Given the description of an element on the screen output the (x, y) to click on. 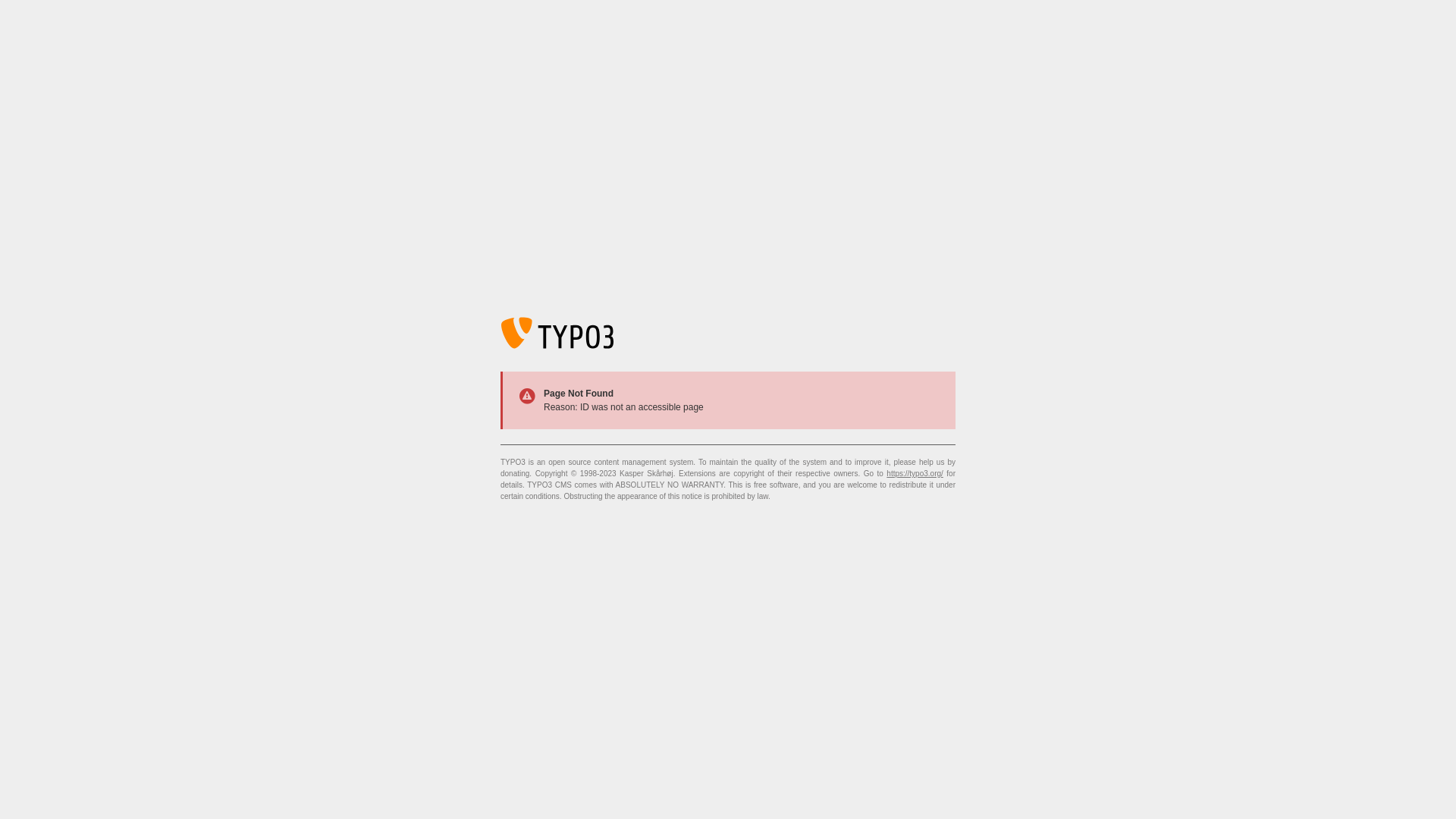
https://typo3.org/ Element type: text (914, 473)
